Given the description of an element on the screen output the (x, y) to click on. 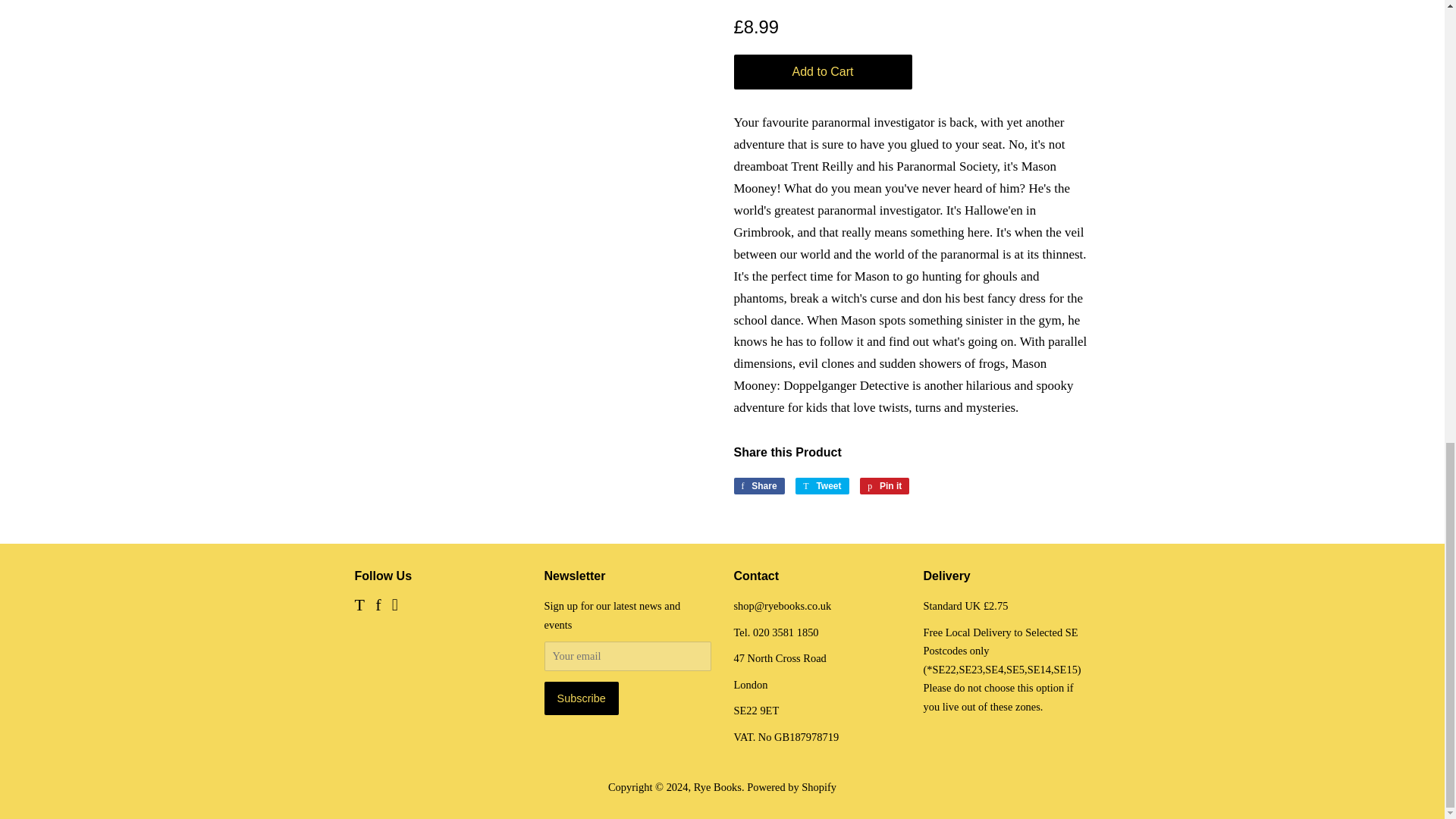
Share on Facebook (758, 485)
Tweet on Twitter (821, 485)
Pin on Pinterest (884, 485)
Subscribe (581, 697)
